Given the description of an element on the screen output the (x, y) to click on. 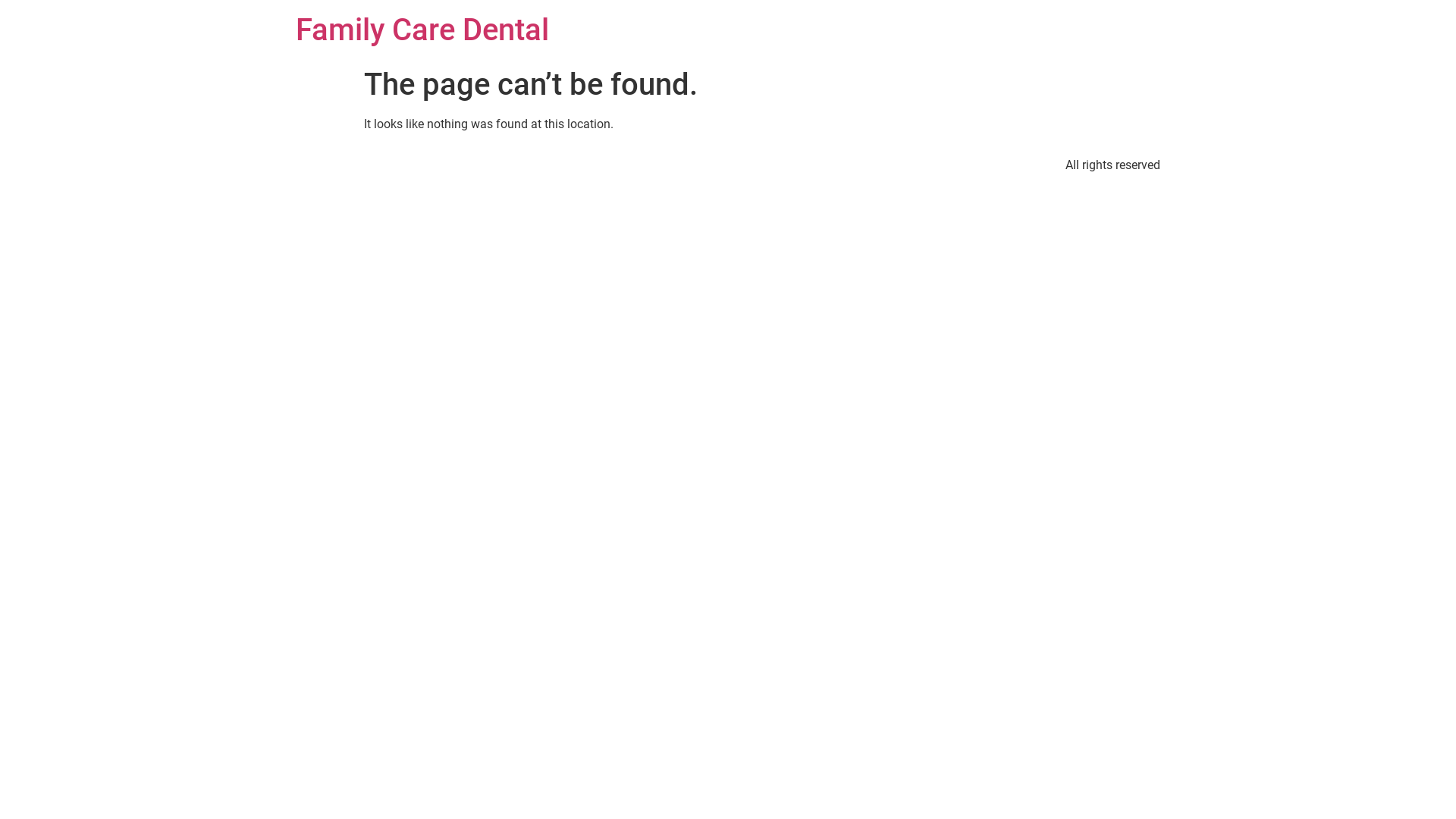
Family Care Dental Element type: text (422, 29)
